Given the description of an element on the screen output the (x, y) to click on. 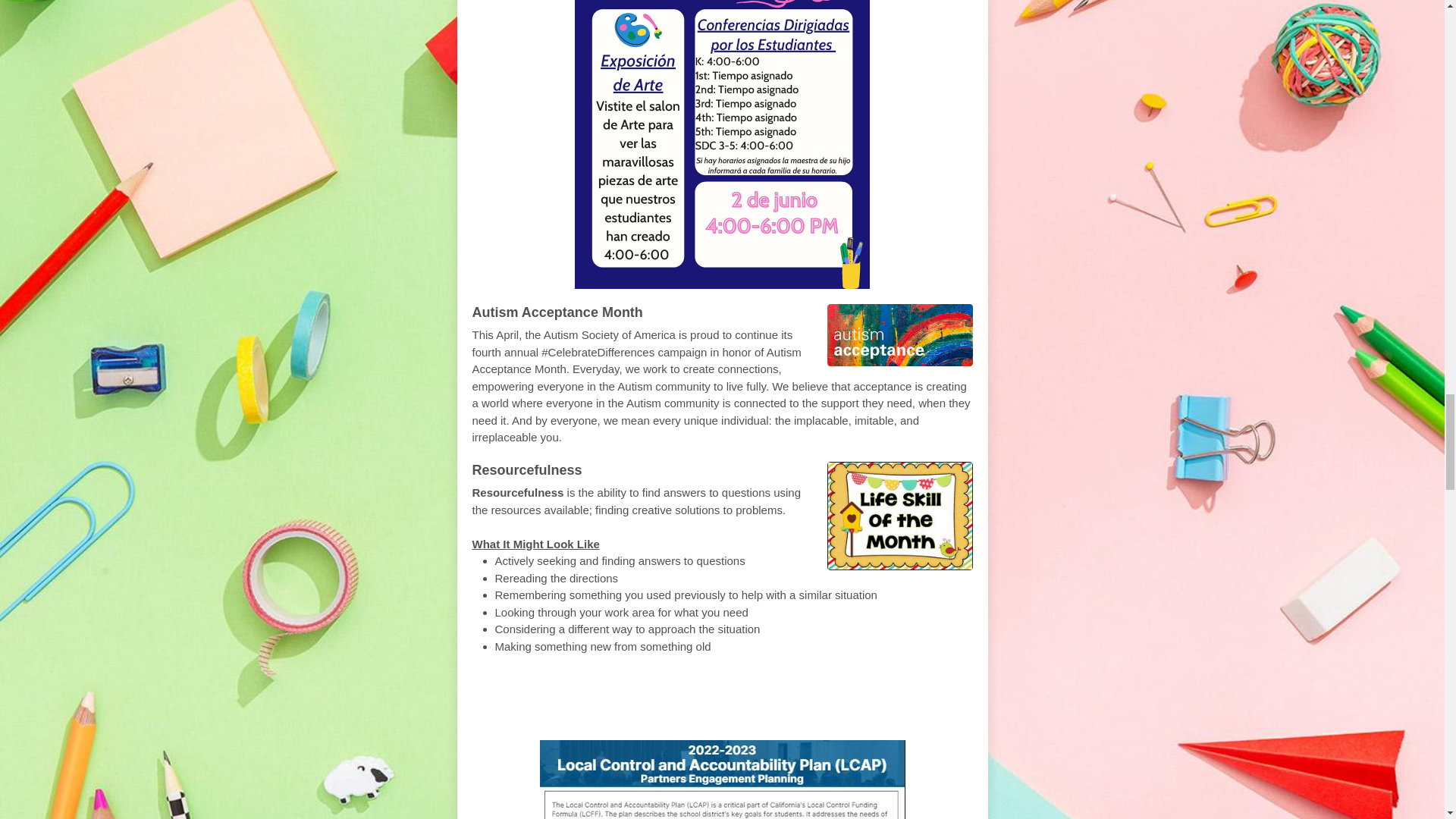
Control (619, 688)
Family (888, 688)
Plan (829, 688)
Accountability (732, 688)
Local (550, 688)
Engagement (681, 712)
Sessions (789, 712)
